Given the description of an element on the screen output the (x, y) to click on. 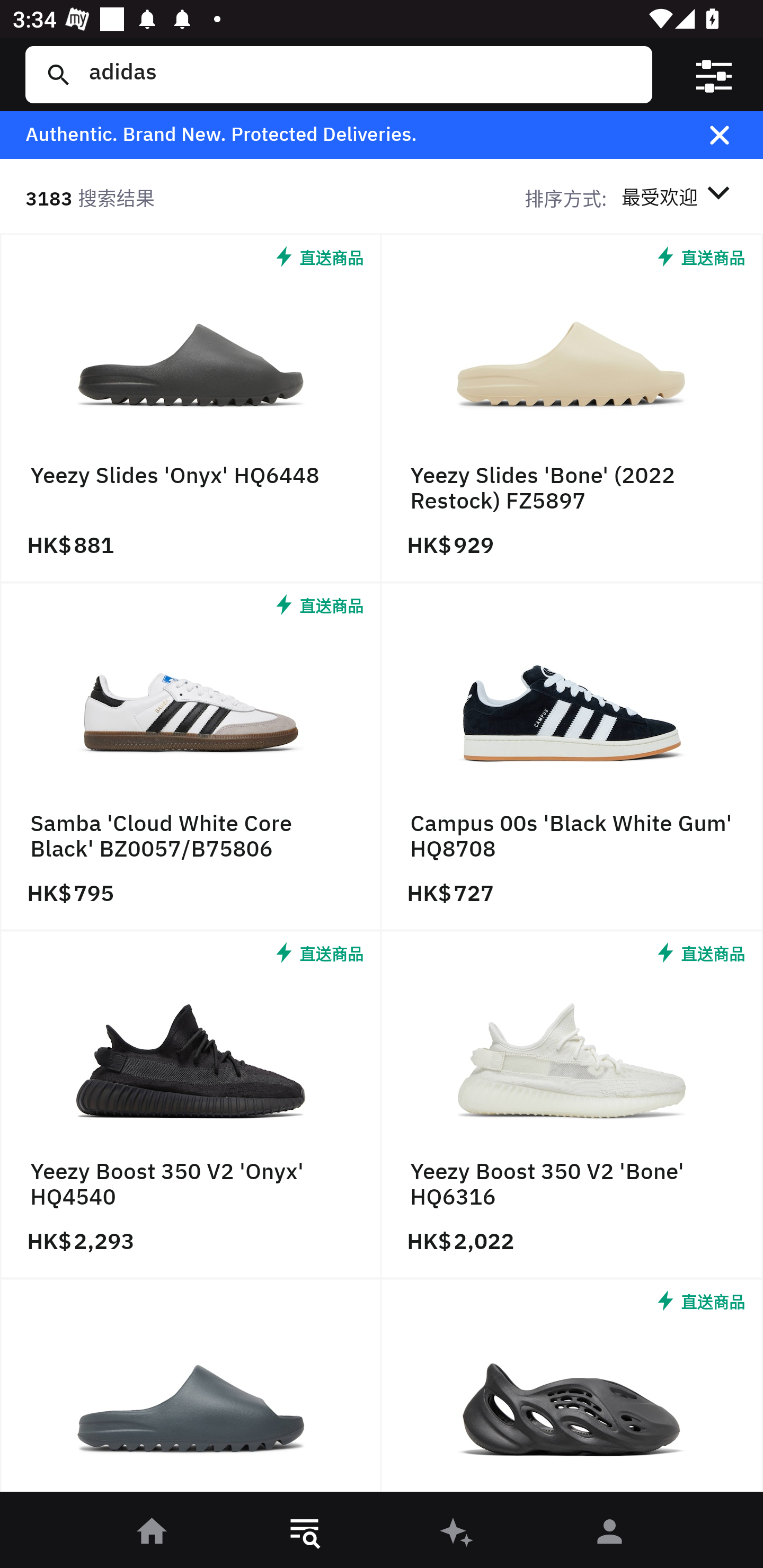
adidas (358, 74)
 (713, 74)
Authentic. Brand New. Protected Deliveries. (350, 134)
 (732, 134)
最受欢迎  (678, 196)
 直送商品 Yeezy Slides 'Onyx' HQ6448 HK$ 881 (190, 409)
Campus 00s 'Black White Gum' HQ8708 HK$ 727 (572, 757)
 直送商品 Yeezy Boost 350 V2 'Onyx' HQ4540 HK$ 2,293 (190, 1105)
 直送商品 Yeezy Boost 350 V2 'Bone' HQ6316 HK$ 2,022 (572, 1105)
 直送商品 (572, 1389)
󰋜 (152, 1532)
󱎸 (305, 1532)
󰫢 (457, 1532)
󰀄 (610, 1532)
